Given the description of an element on the screen output the (x, y) to click on. 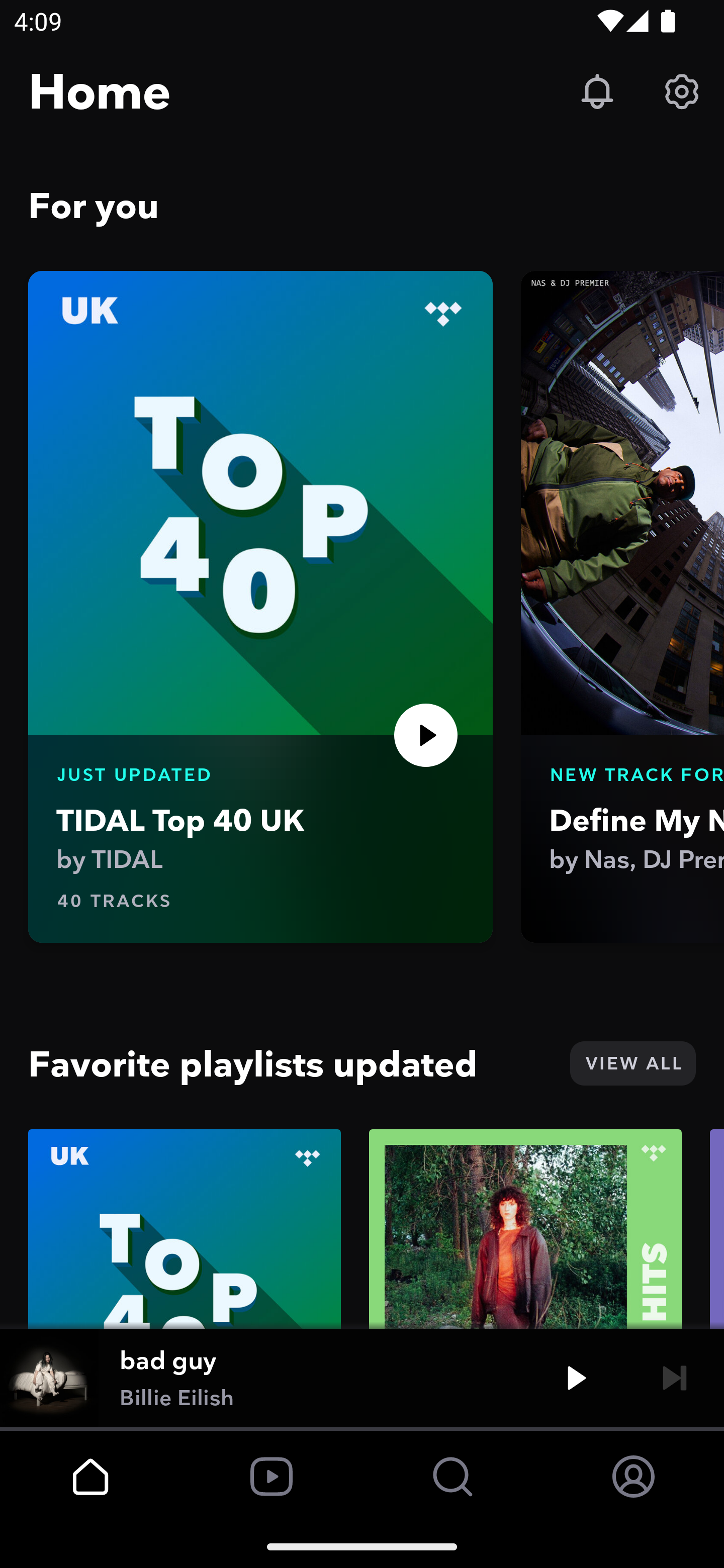
Updates (597, 90)
Settings (681, 90)
Play (425, 735)
VIEW ALL (632, 1063)
bad guy Billie Eilish Play (362, 1377)
Play (576, 1377)
